Given the description of an element on the screen output the (x, y) to click on. 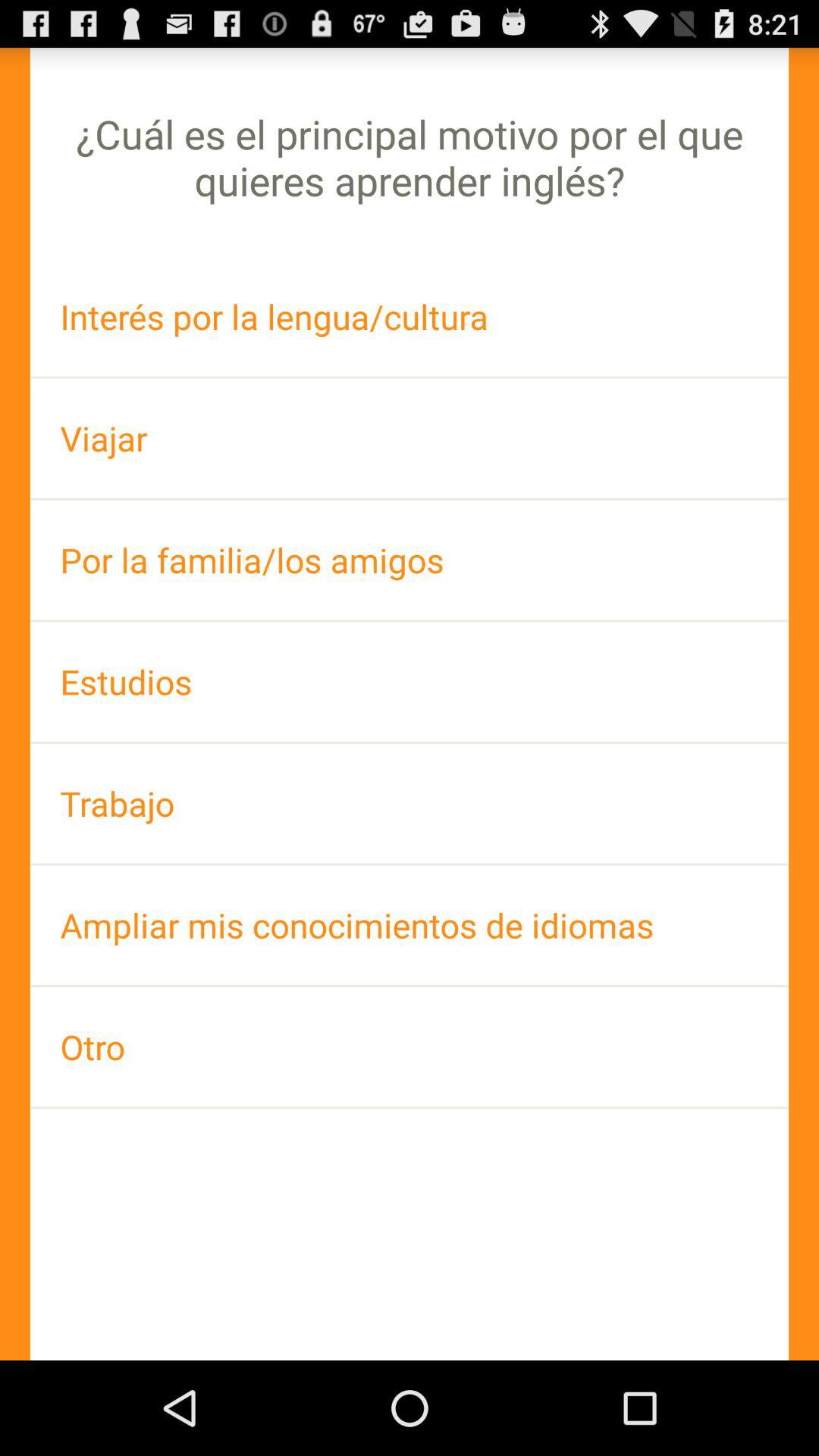
open trabajo (409, 803)
